Given the description of an element on the screen output the (x, y) to click on. 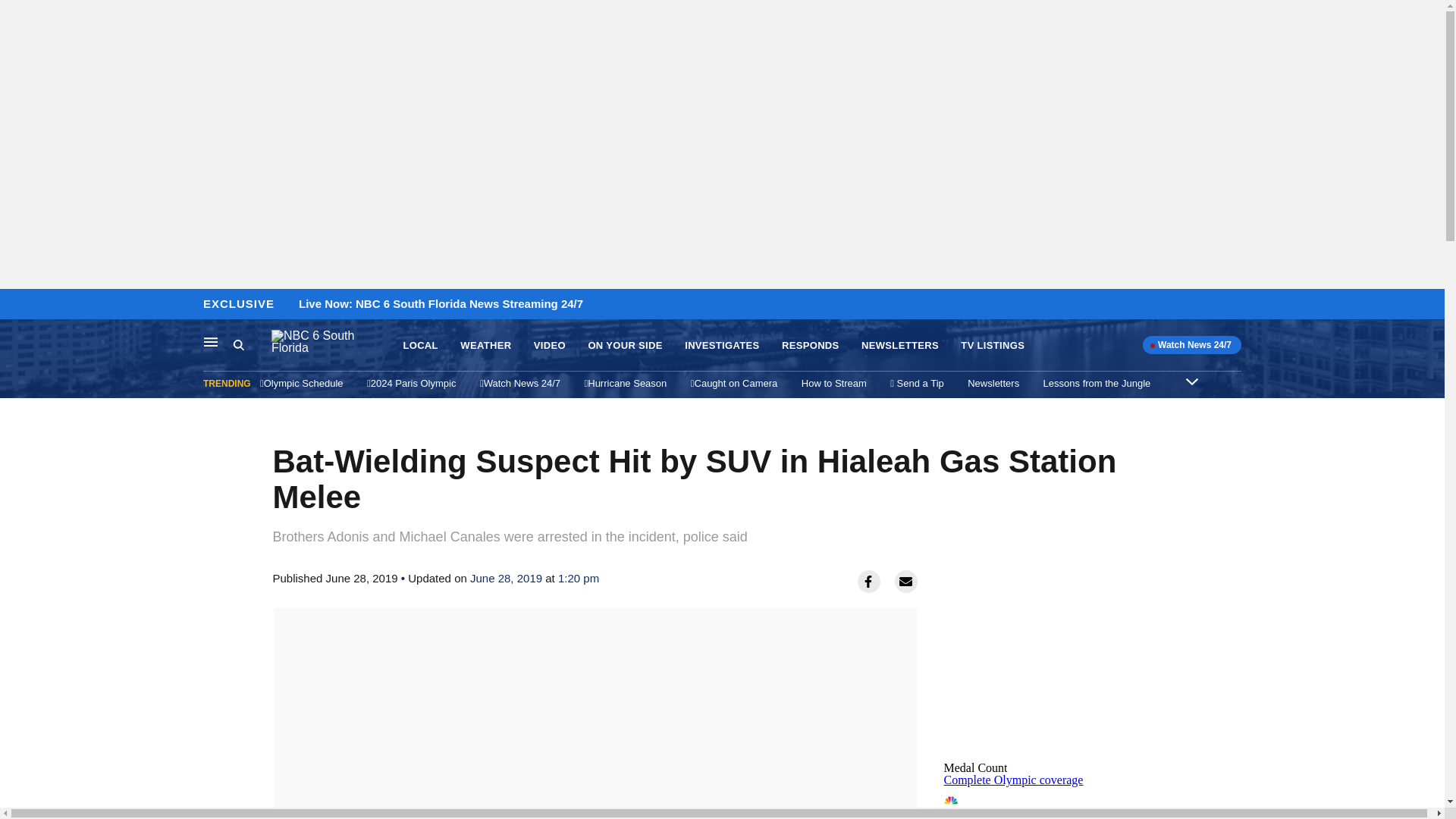
INVESTIGATES (721, 345)
How to Stream (834, 383)
Newsletters (993, 383)
Skip to content (16, 304)
WEATHER (485, 345)
ON YOUR SIDE (625, 345)
RESPONDS (810, 345)
Main Navigation (1056, 802)
LOCAL (210, 341)
NEWSLETTERS (420, 345)
Complete Olympic coverage (900, 345)
TV LISTINGS (1013, 779)
Expand (992, 345)
Lessons from the Jungle (1192, 381)
